Given the description of an element on the screen output the (x, y) to click on. 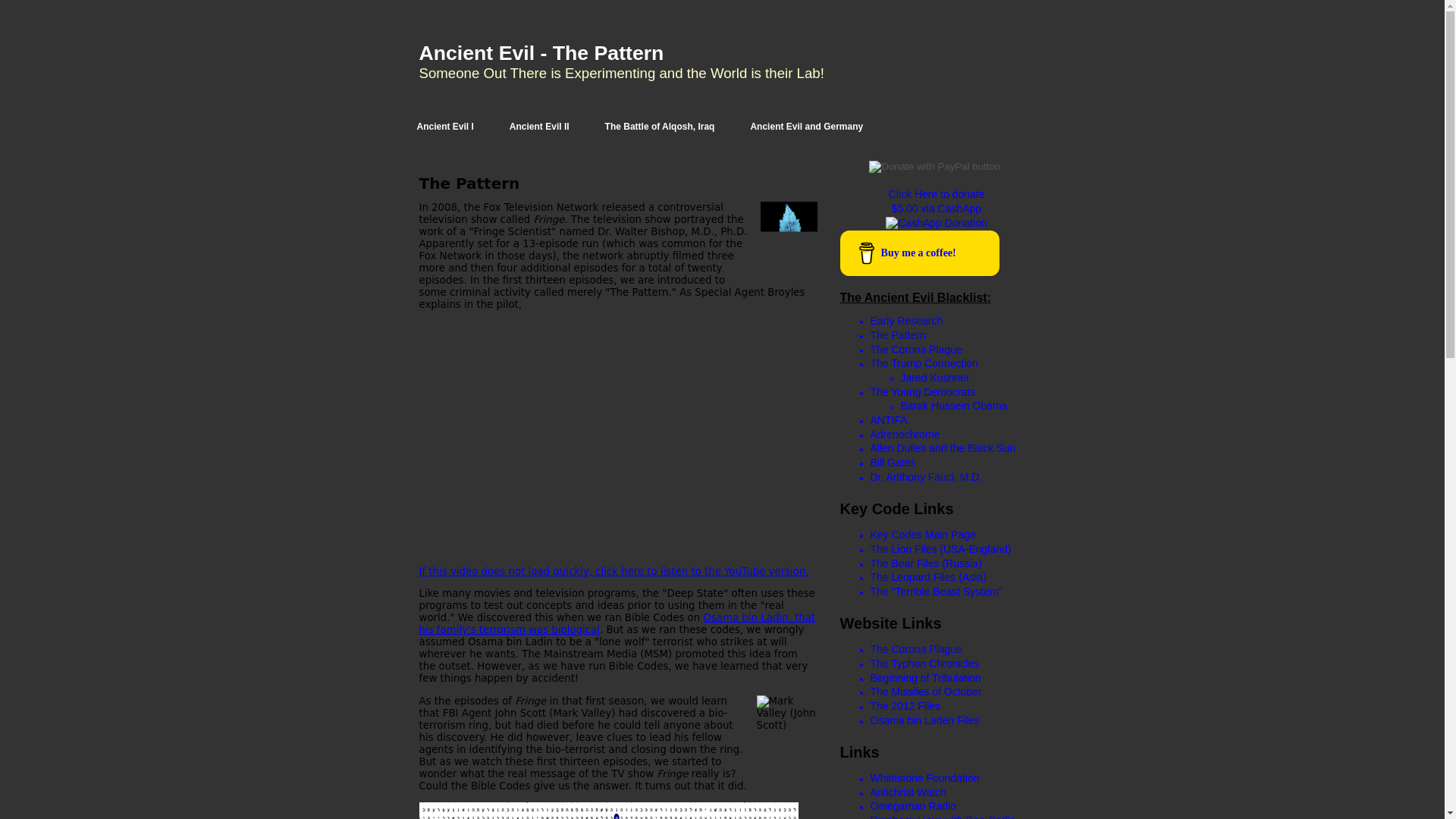
Allen Dulles and the Black Sun (942, 448)
Ancient Evil I (444, 127)
Bill Gates (892, 462)
The Missiles of October (925, 691)
Key Codes Main Page (922, 534)
Ancient Evil II (540, 127)
The Pattern (898, 335)
Prophecy Hour with Dan Catlin (942, 816)
The Corona Plague (916, 648)
ANTIFA (888, 419)
